Given the description of an element on the screen output the (x, y) to click on. 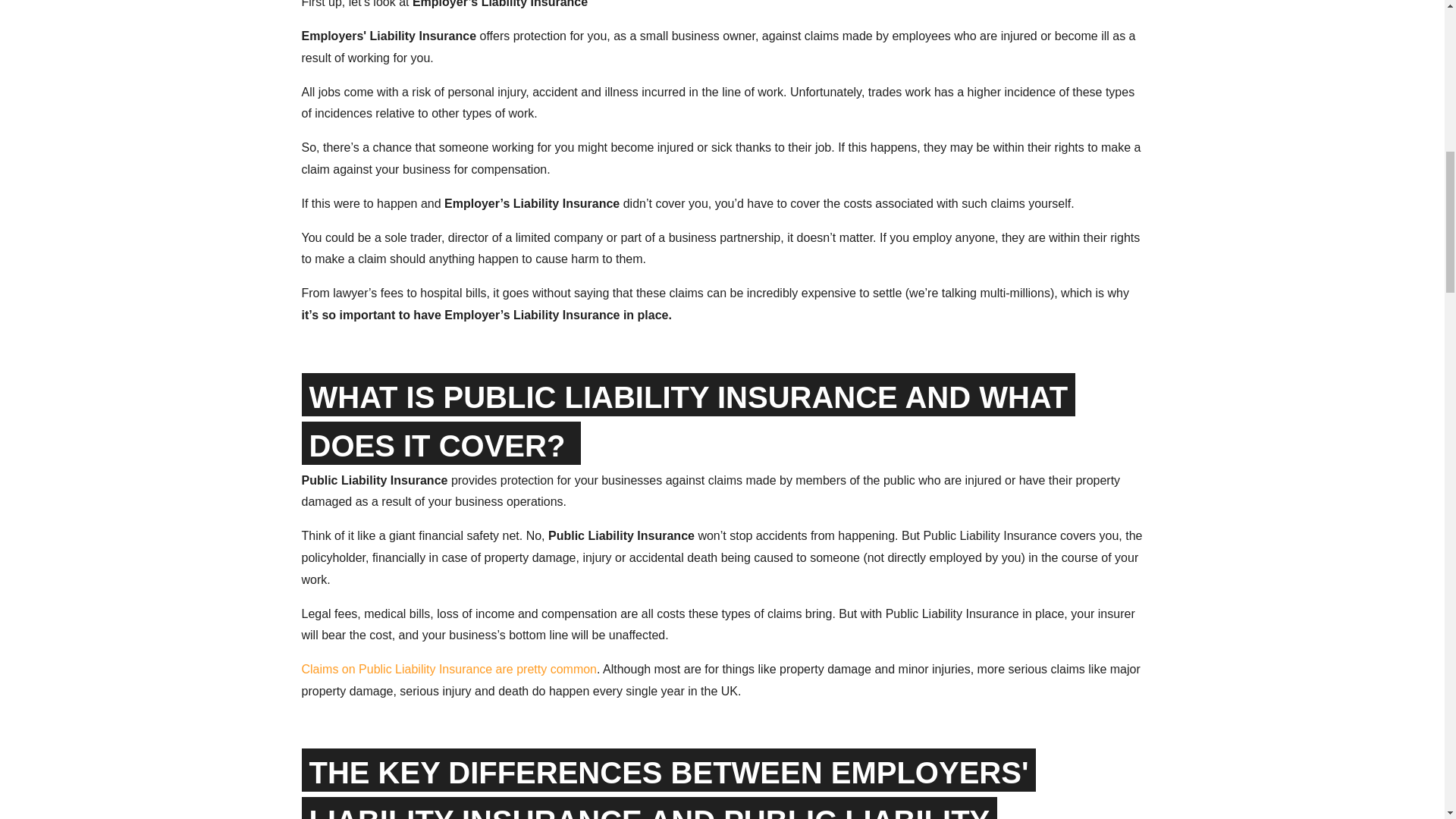
The most common causes of Tradesman Insurance Claims (448, 668)
